Given the description of an element on the screen output the (x, y) to click on. 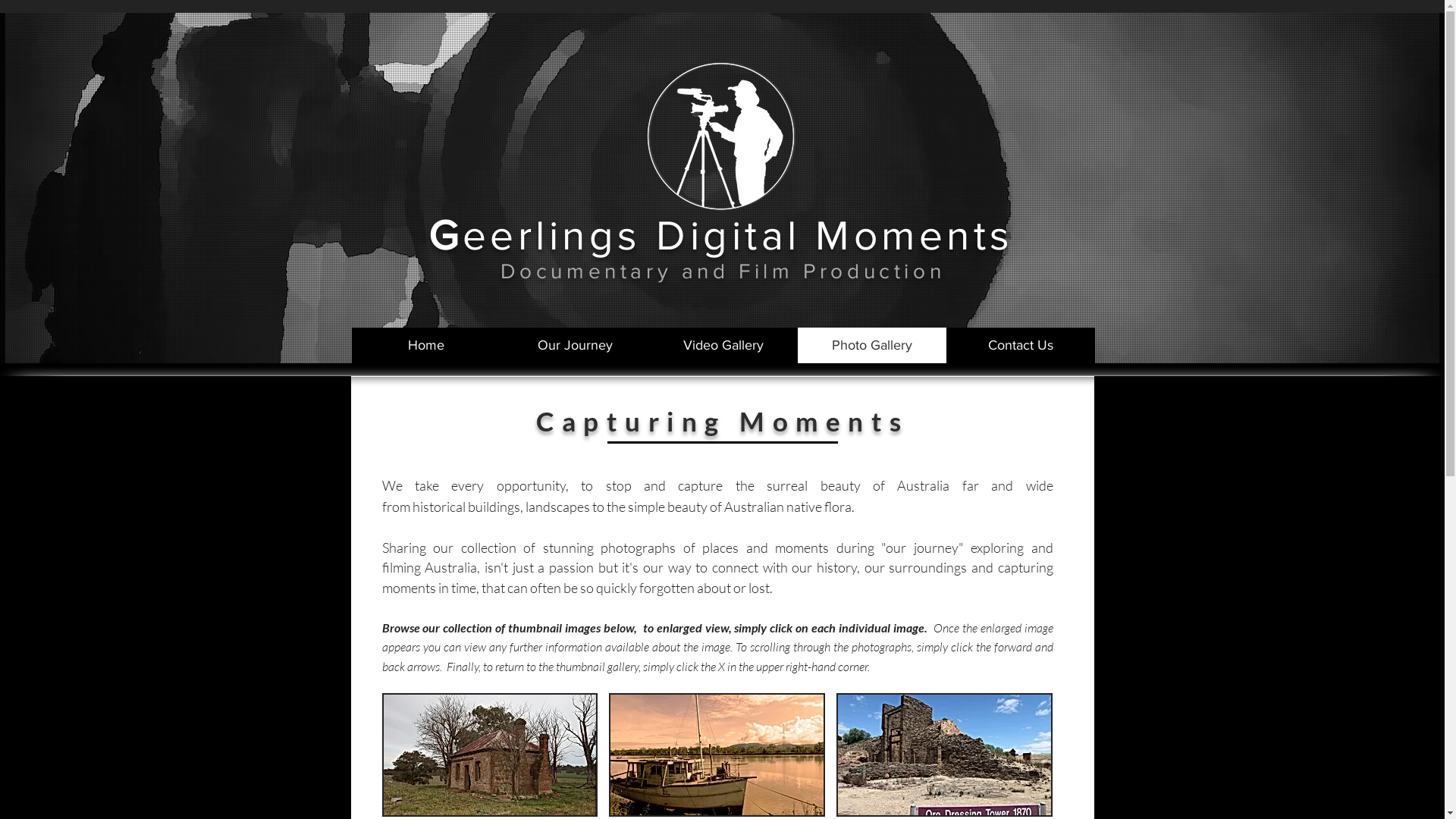
Home Element type: text (425, 345)
Our Journey Element type: text (574, 345)
Documentary and Film Production Element type: text (722, 270)
Video Gallery Element type: text (723, 345)
Photo Gallery Element type: text (871, 345)
Geerlings Digital Moments Element type: text (720, 234)
Contact Us Element type: text (1020, 345)
